Given the description of an element on the screen output the (x, y) to click on. 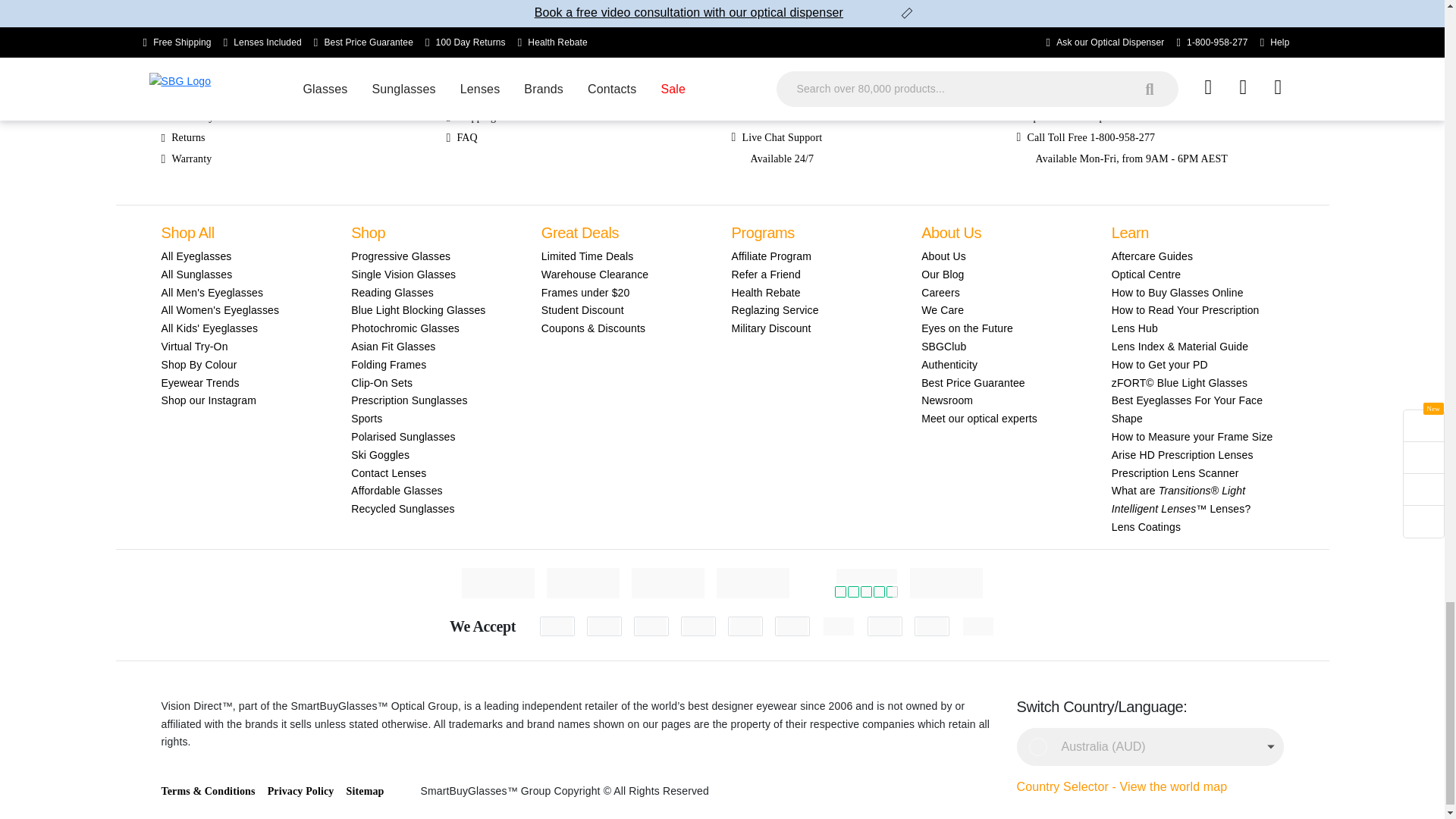
Trustpilot (865, 575)
